Given the description of an element on the screen output the (x, y) to click on. 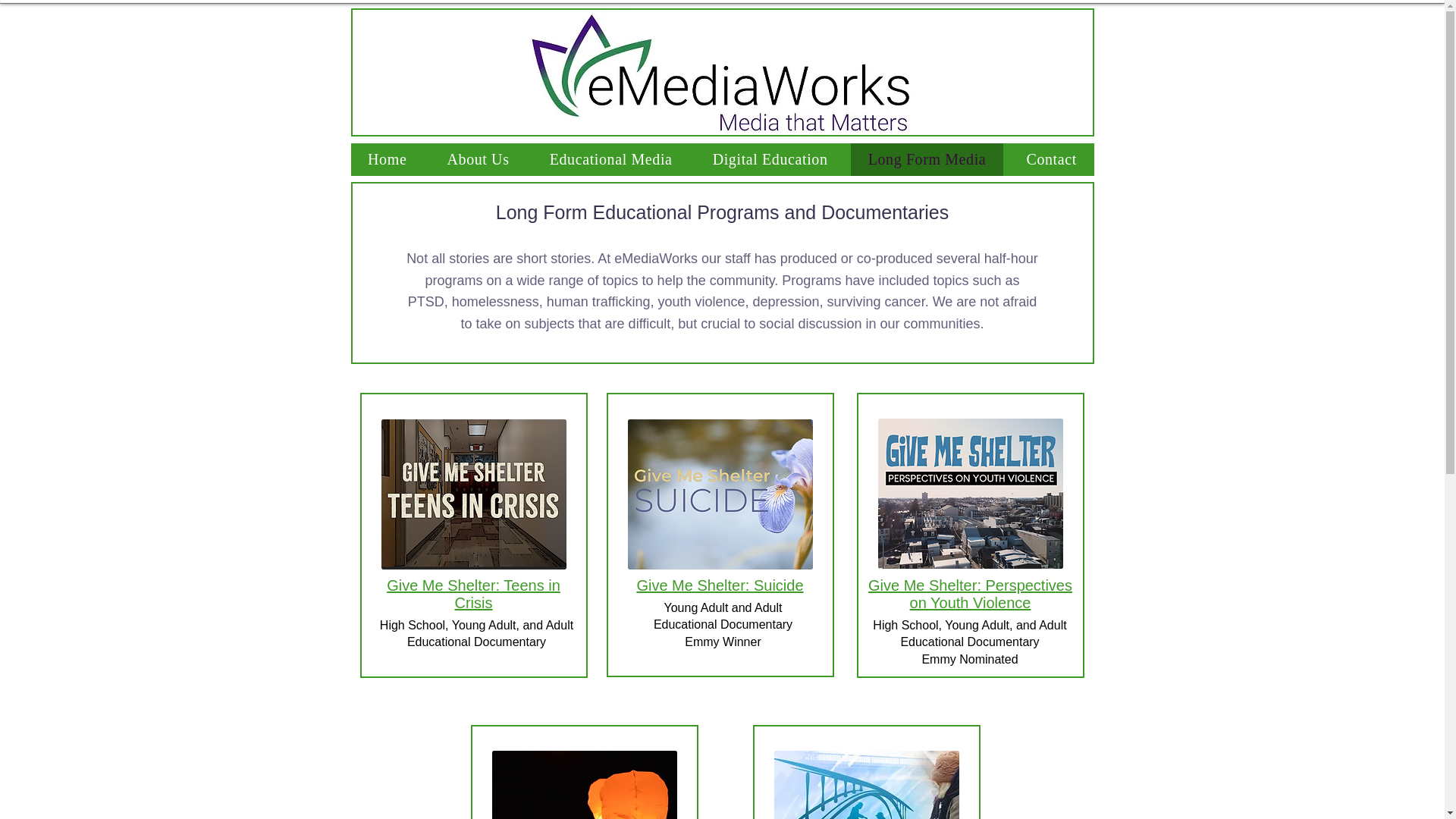
Digital Education (769, 159)
Home (386, 159)
Long Form Media (926, 159)
About Us (477, 159)
Contact (1051, 159)
Select to learn more. (719, 494)
Select to learn more. (865, 785)
Give Me Shelter: Perspectives on Youth Violence (969, 593)
Educational Media (610, 159)
Select to learn more. (969, 493)
Select to learn more. (584, 785)
Give Me Shelter: Suicide (719, 585)
Give Me Shelter: Teens in Crisis (473, 593)
Select to learn more. (473, 494)
